Given the description of an element on the screen output the (x, y) to click on. 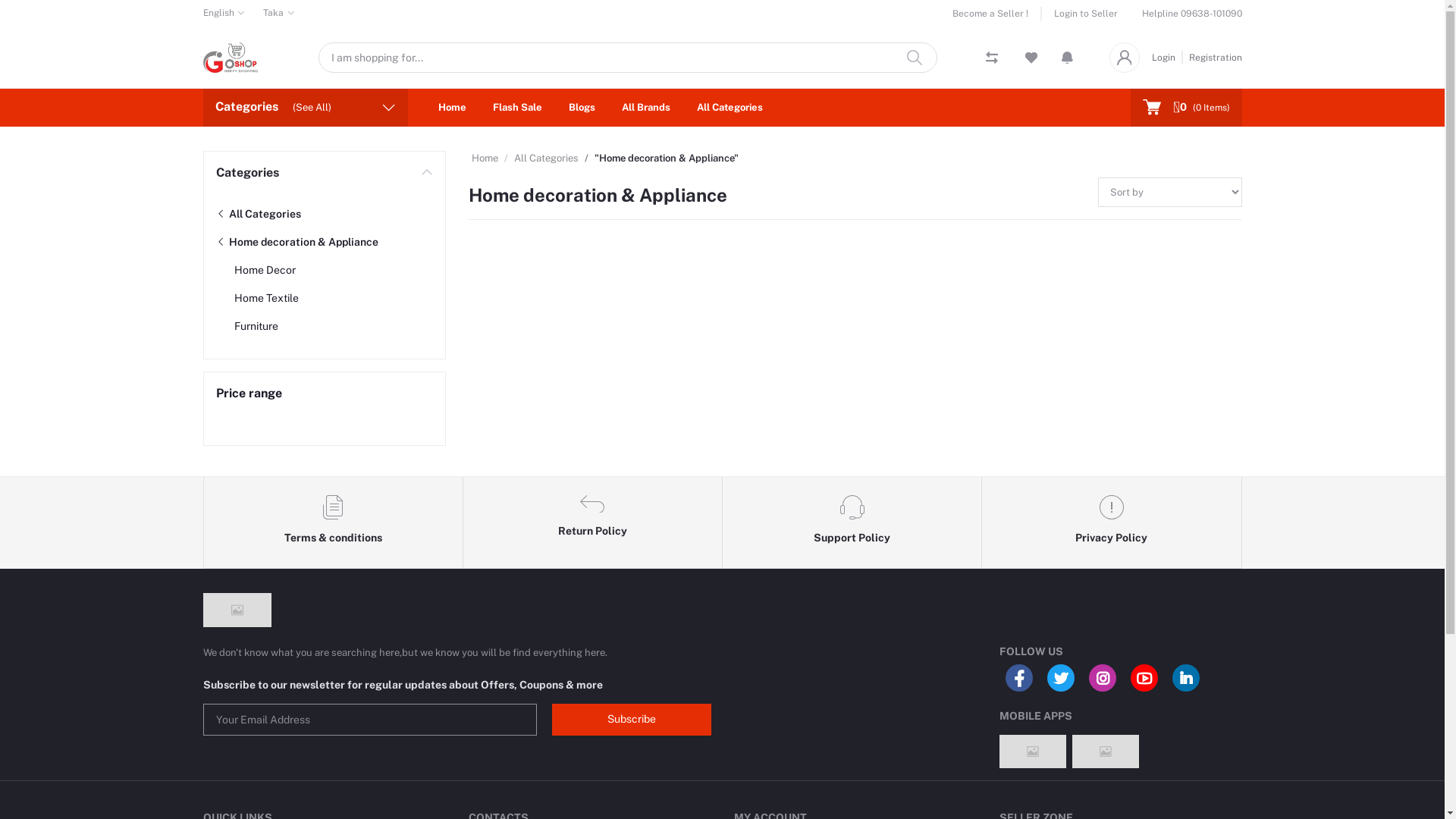
Home Decor Element type: text (263, 269)
All Brands Element type: text (645, 107)
Categories Element type: text (323, 172)
Furniture Element type: text (255, 326)
All Categories Element type: text (257, 213)
Become a Seller ! Element type: text (996, 13)
Login to Seller Element type: text (1079, 13)
Privacy Policy Element type: text (1111, 522)
Flash Sale Element type: text (517, 107)
Taka Element type: text (278, 12)
Login Element type: text (1166, 56)
Home Element type: text (452, 107)
Helpline 09638-101090 Element type: text (1192, 13)
Registration Element type: text (1212, 56)
Support Policy Element type: text (852, 522)
Terms & conditions Element type: text (332, 522)
All Categories Element type: text (546, 157)
All Categories Element type: text (729, 107)
English Element type: text (224, 12)
Blogs Element type: text (581, 107)
Home Textile Element type: text (265, 297)
Home decoration & Appliance Element type: text (296, 241)
Return Policy Element type: text (592, 522)
Subscribe Element type: text (631, 719)
Home Element type: text (484, 157)
(See All) Element type: text (311, 106)
